Given the description of an element on the screen output the (x, y) to click on. 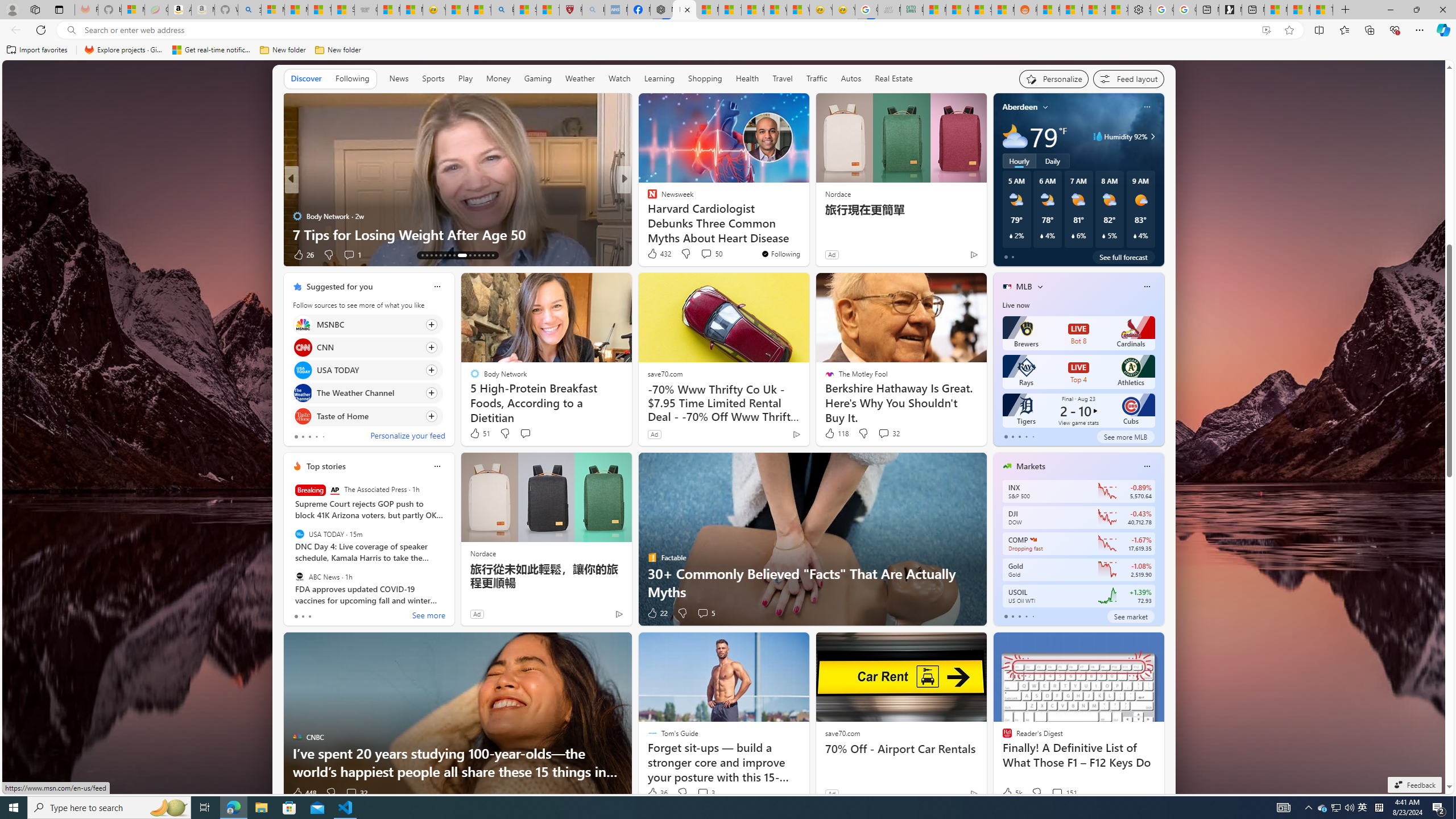
The Weather Channel (302, 393)
save70.com (842, 732)
Shopping (705, 78)
Markets (1030, 466)
Discover (306, 78)
Robert H. Shmerling, MD - Harvard Health (570, 9)
Microsoft Start Gaming (1230, 9)
MSNBC - MSN (934, 9)
Nordace - Nordace Siena Is Not An Ordinary Backpack (661, 9)
12 Popular Science Lies that Must be Corrected (547, 9)
Weather (580, 79)
